Given the description of an element on the screen output the (x, y) to click on. 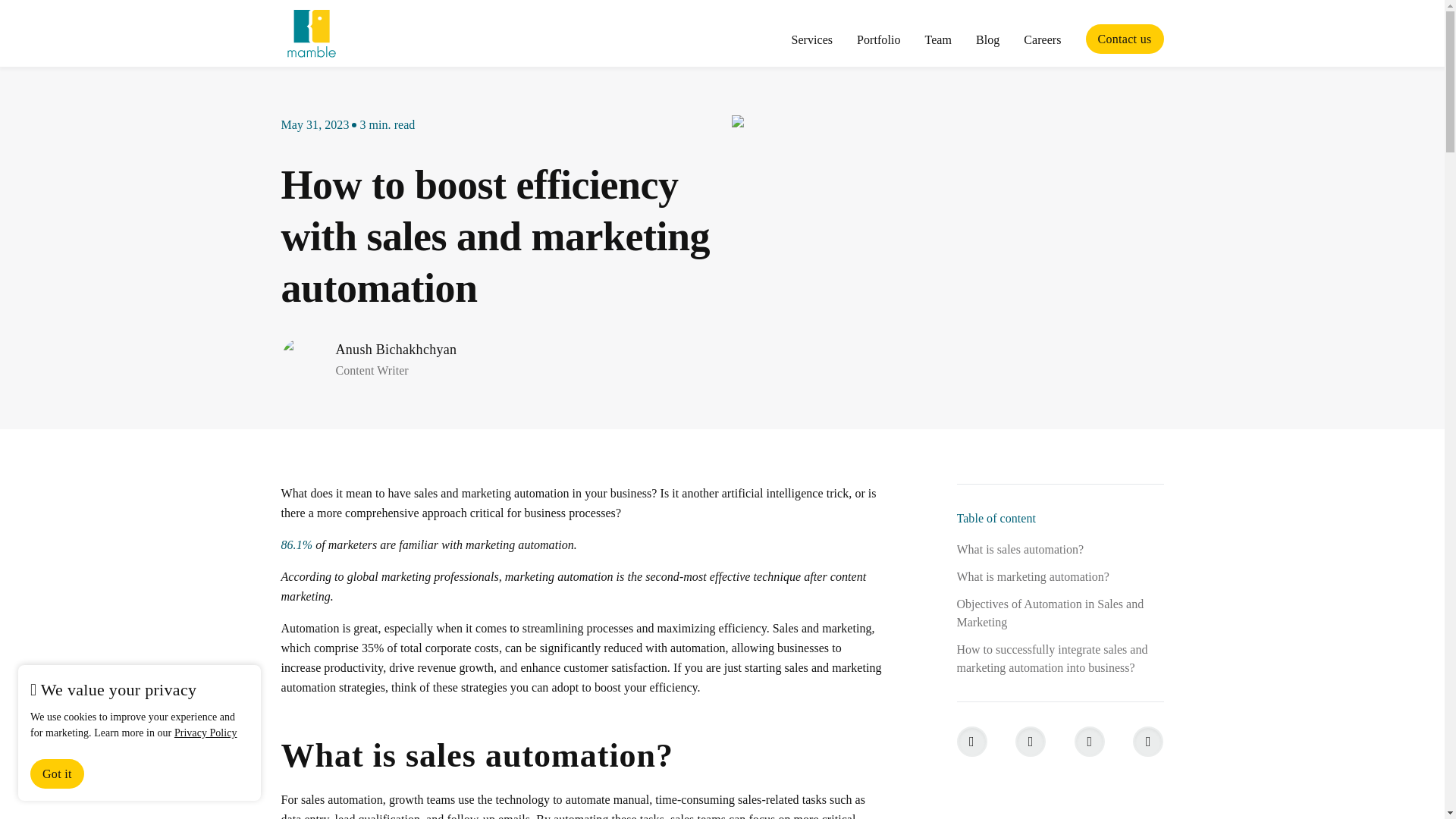
What is marketing automation? (1059, 577)
Objectives of Automation in Sales and Marketing (1059, 613)
What is sales automation? (1059, 549)
Contact us (1124, 39)
Got it (57, 773)
Privacy Policy (205, 732)
Mamble (310, 33)
